Given the description of an element on the screen output the (x, y) to click on. 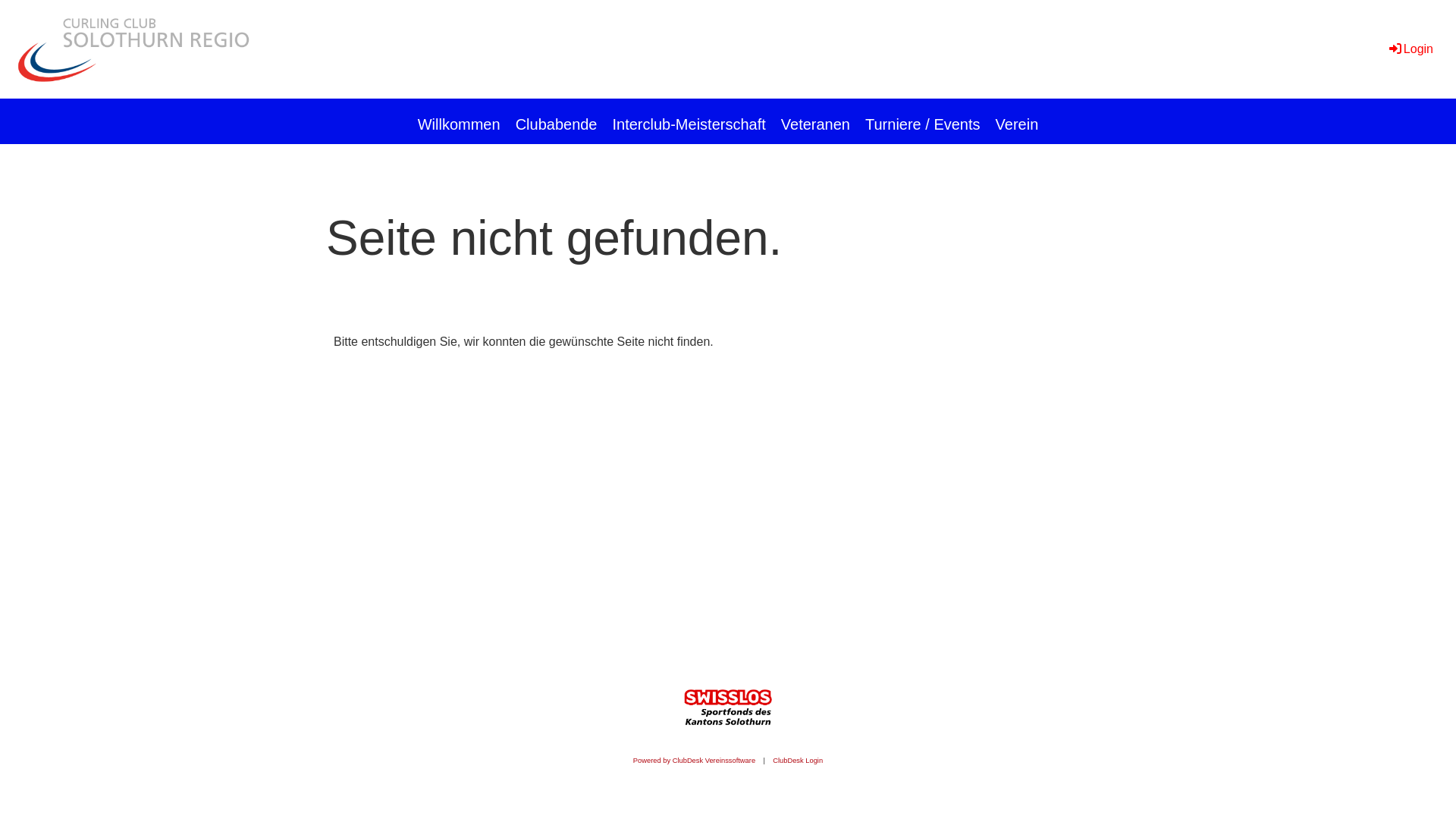
Veteranen Element type: text (815, 121)
Turniere / Events Element type: text (922, 121)
Interclub-Meisterschaft Element type: text (689, 121)
Login Element type: text (1409, 48)
Willkommen Element type: text (459, 121)
ClubDesk Login Element type: text (797, 760)
Verein Element type: text (1017, 121)
Powered by ClubDesk Vereinssoftware Element type: text (694, 760)
Clubabende Element type: text (556, 121)
